Given the description of an element on the screen output the (x, y) to click on. 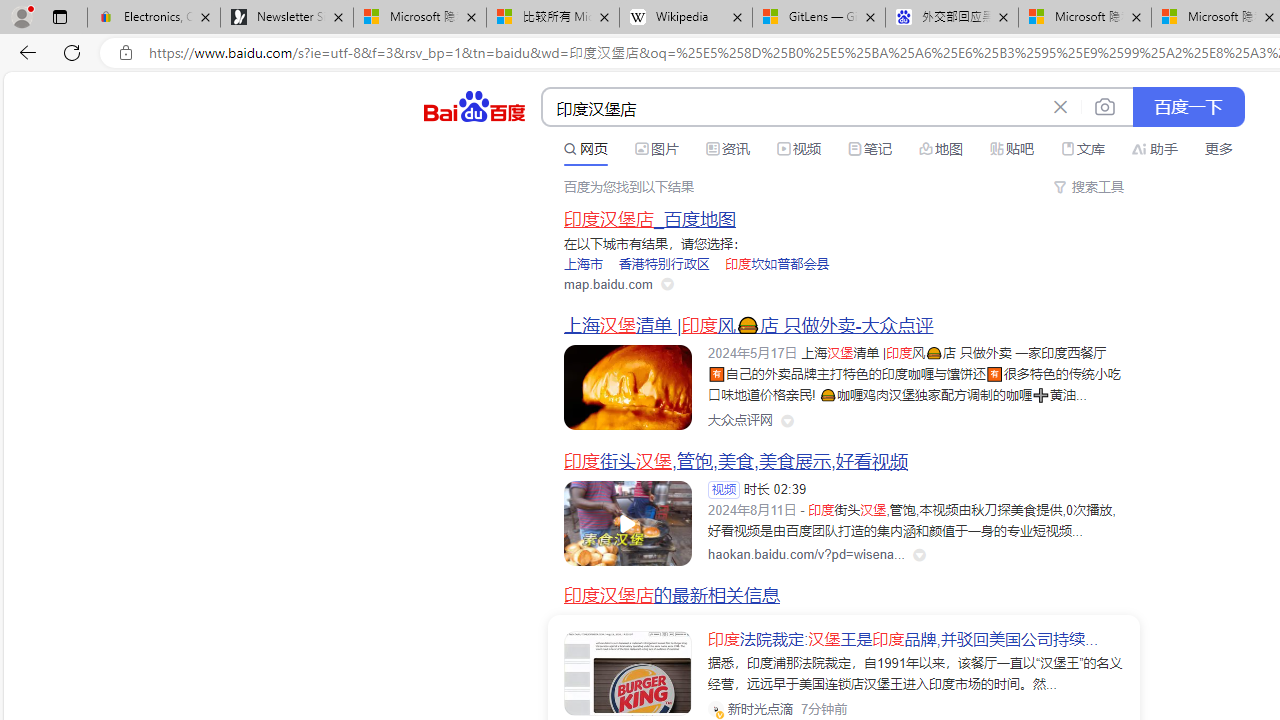
AutomationID: kw (793, 107)
